Given the description of an element on the screen output the (x, y) to click on. 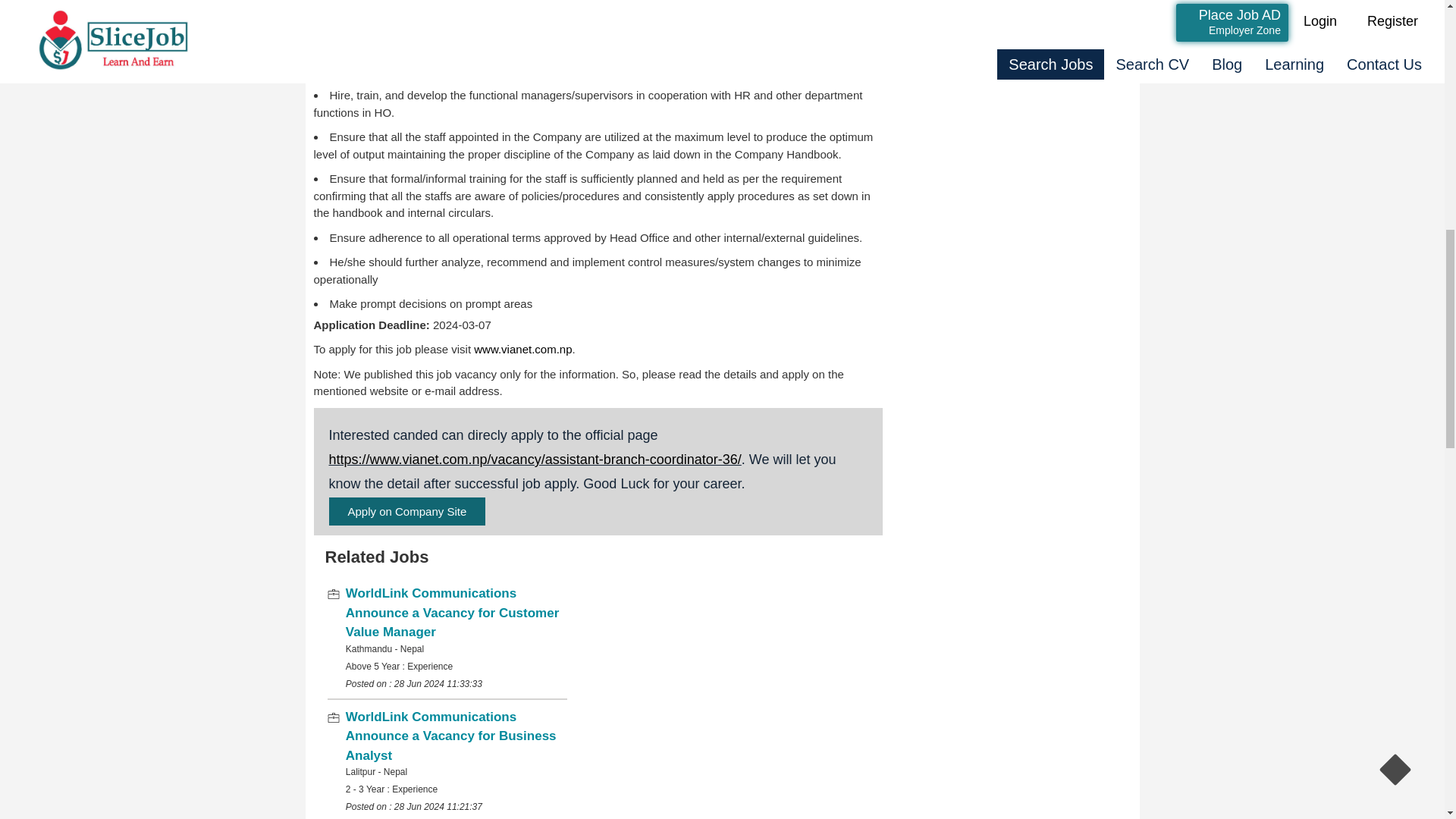
www.vianet.com.np (523, 349)
Apply on Company Site (407, 511)
